Given the description of an element on the screen output the (x, y) to click on. 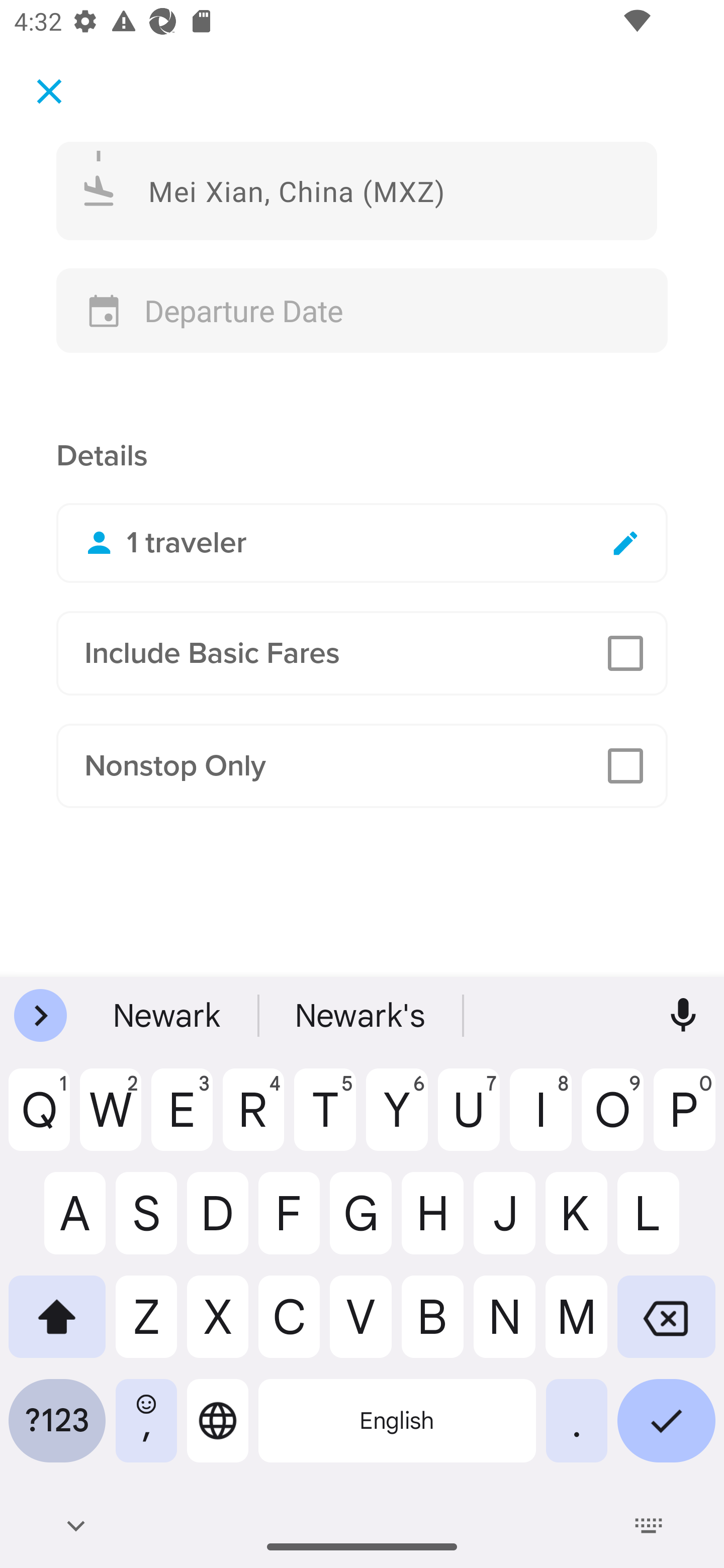
Cancel (49, 90)
Mei Xian, China (MXZ) (356, 190)
Departure Date (361, 310)
1 traveler Edit Travelers (361, 542)
Include Basic Fares (361, 653)
Nonstop Only (361, 765)
